Given the description of an element on the screen output the (x, y) to click on. 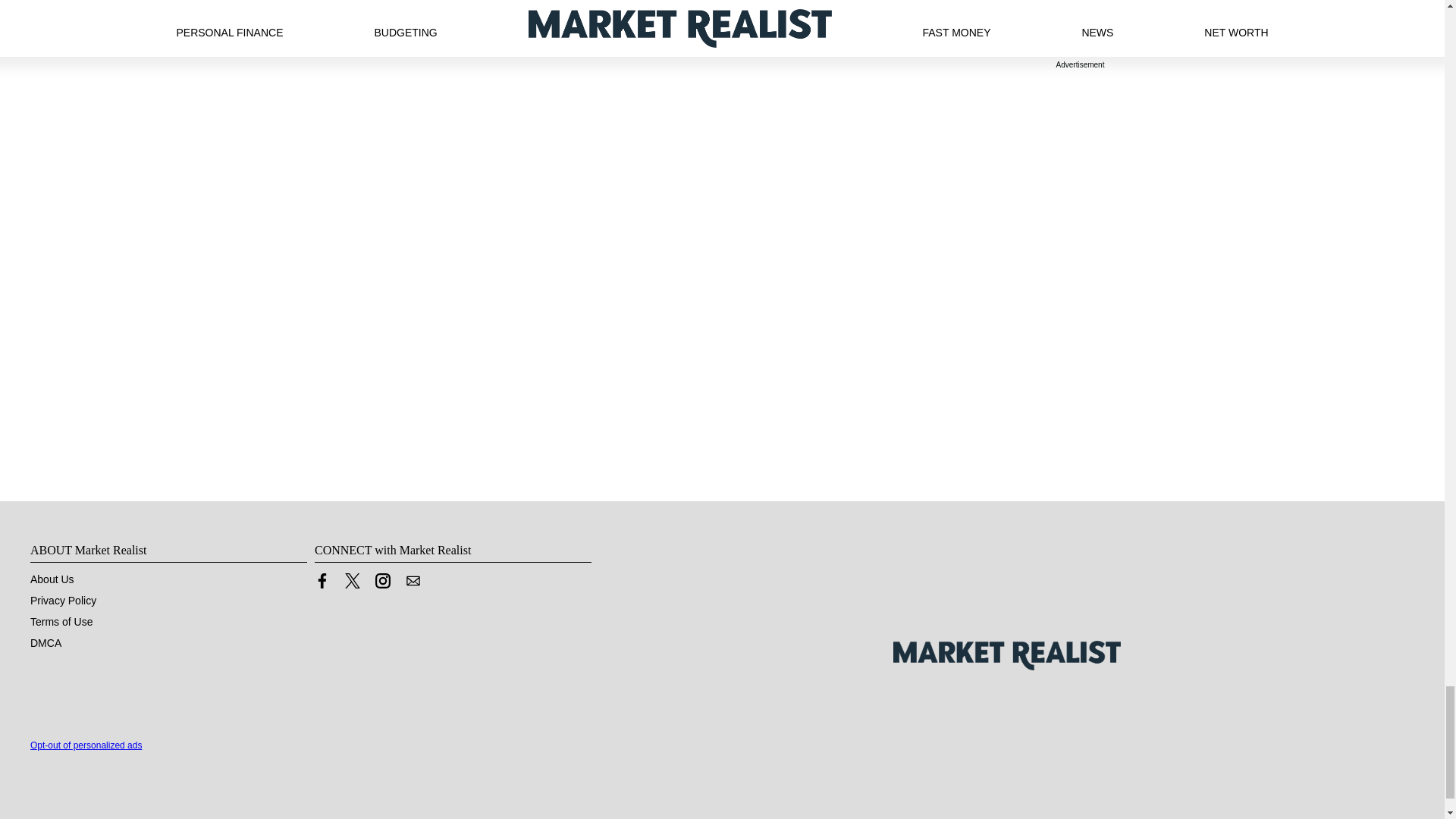
DMCA (45, 643)
Contact us by Email (413, 580)
Opt-out of personalized ads (85, 745)
Link to Facebook (322, 580)
Privacy Policy (63, 600)
Contact us by Email (413, 584)
Link to Instagram (382, 580)
About Us (52, 579)
Terms of Use (61, 621)
Link to X (352, 584)
Link to Facebook (322, 584)
Terms of Use (61, 621)
DMCA (45, 643)
Link to X (352, 580)
Privacy Policy (63, 600)
